Given the description of an element on the screen output the (x, y) to click on. 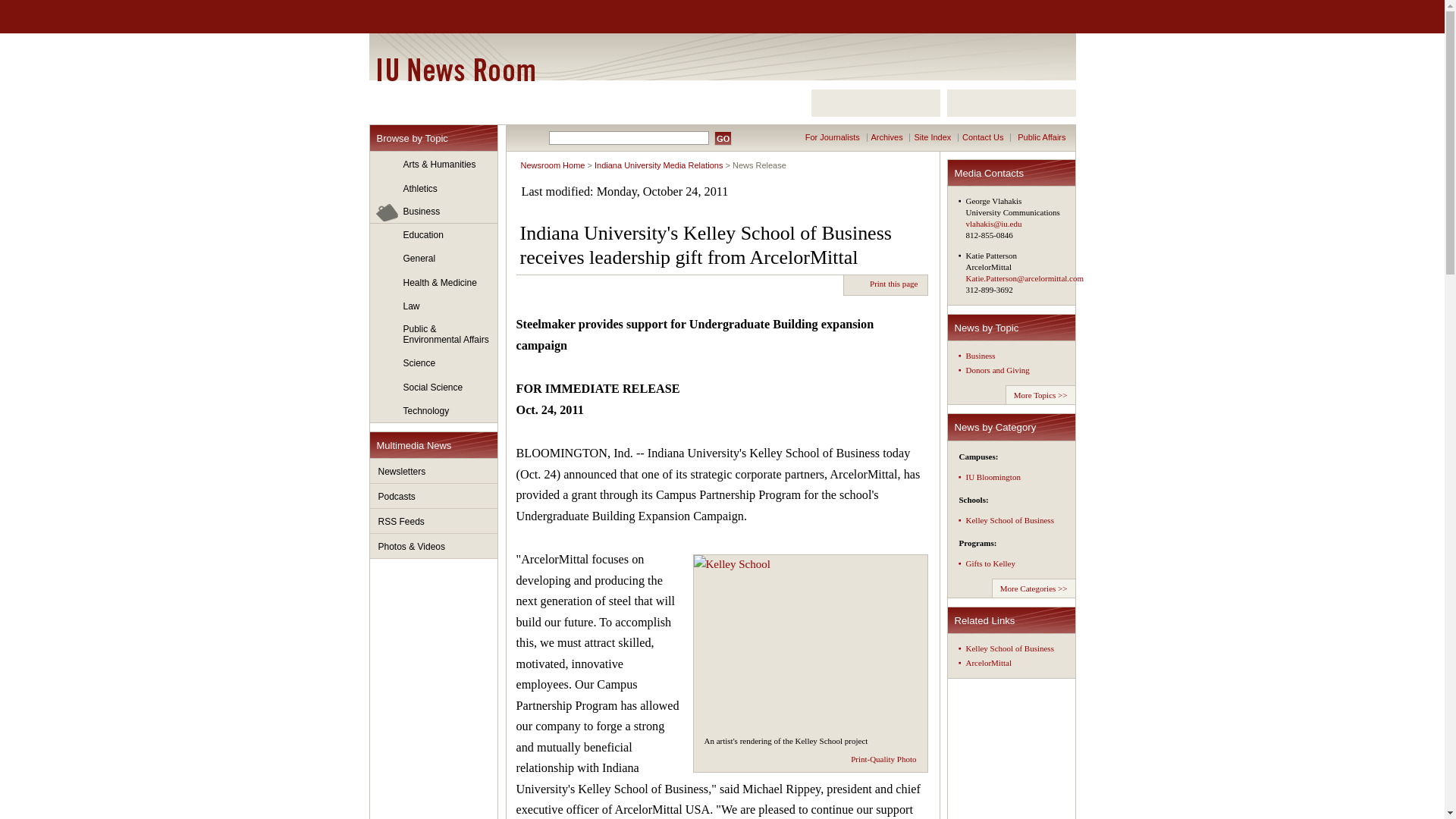
Business (433, 211)
Science (433, 363)
Education (433, 235)
General (433, 259)
Law (433, 306)
Technology (433, 411)
IU News Room (455, 69)
General (433, 259)
Athletics (433, 188)
Social Science (433, 387)
Business (433, 211)
Athletics (433, 188)
Indiana University (448, 16)
Podcasts (433, 496)
Education (433, 235)
